Given the description of an element on the screen output the (x, y) to click on. 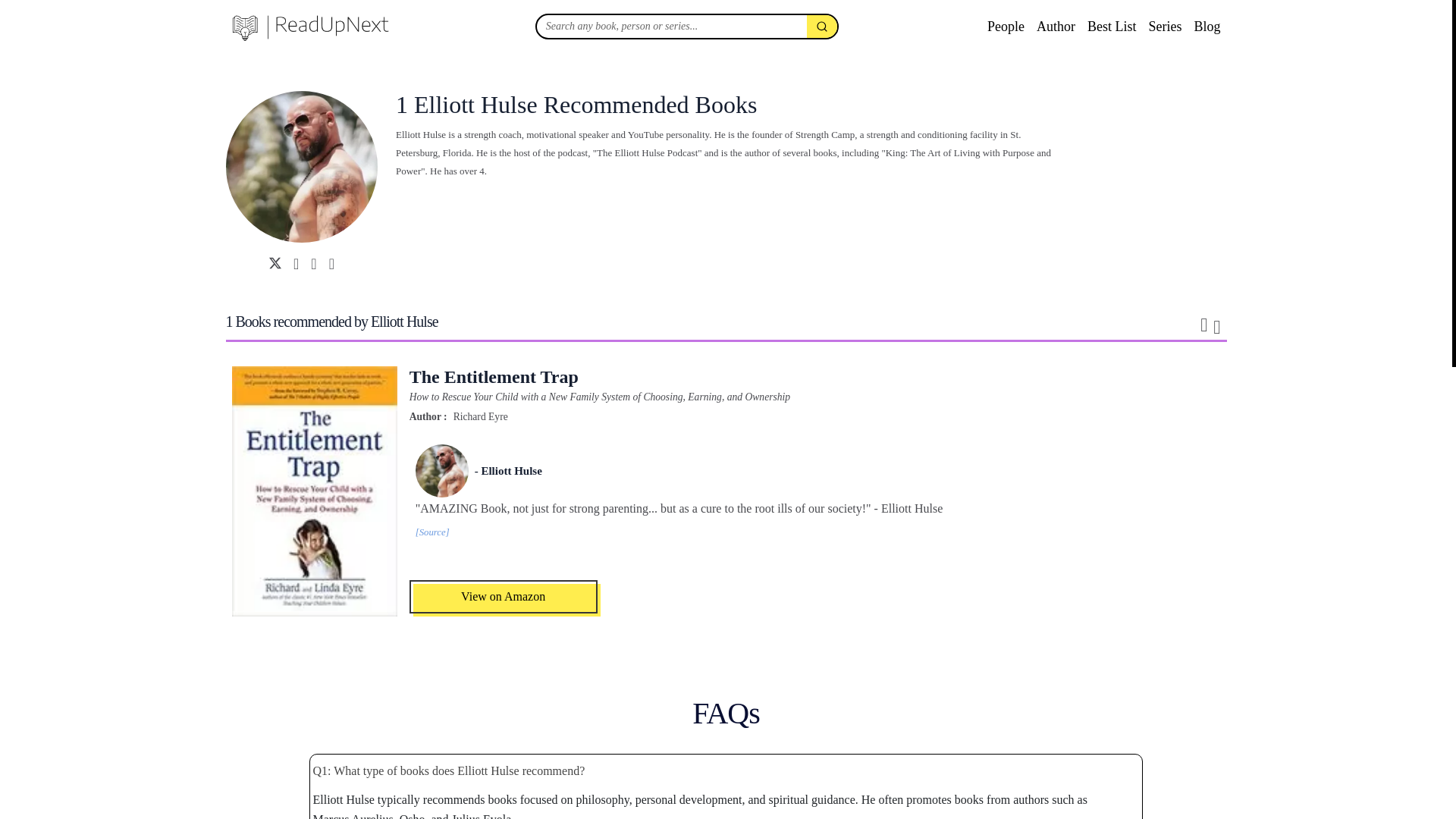
Blog (1206, 26)
Series (1164, 26)
People (1006, 26)
The Entitlement Trap (691, 376)
grid layout (1216, 324)
list layout (1203, 324)
Author (1055, 26)
View on Amazon (502, 595)
Best List (1112, 26)
